Given the description of an element on the screen output the (x, y) to click on. 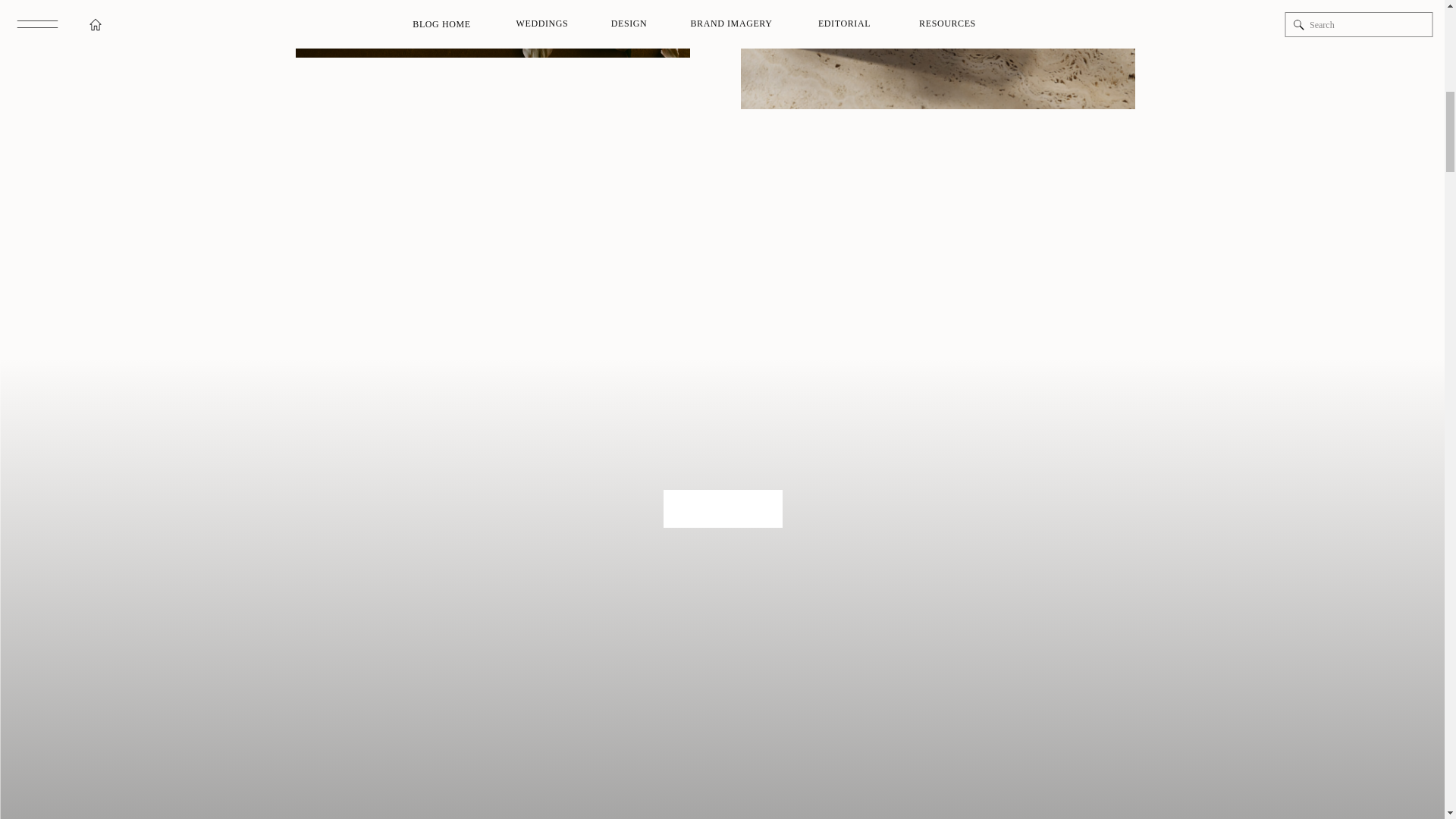
Wedding Stationery Brand Shoot (492, 28)
